Given the description of an element on the screen output the (x, y) to click on. 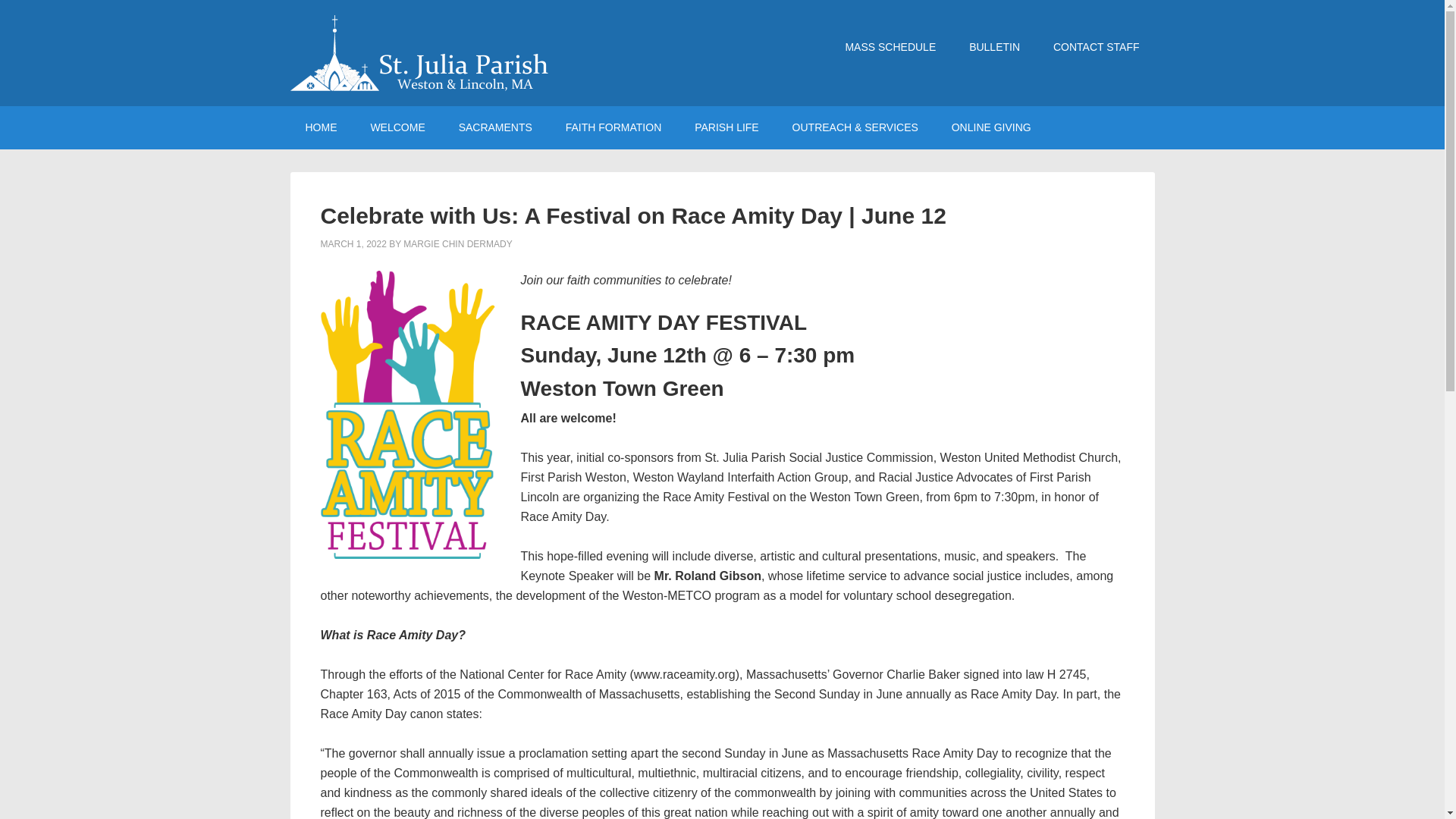
WELCOME (397, 127)
Page 1 (722, 742)
FAITH FORMATION (613, 127)
PARISH LIFE (726, 127)
MASS SCHEDULE (889, 46)
CONTACT STAFF (1096, 46)
HOME (320, 127)
ST. JULIA PARISH (418, 52)
BULLETIN (994, 46)
SACRAMENTS (495, 127)
